Given the description of an element on the screen output the (x, y) to click on. 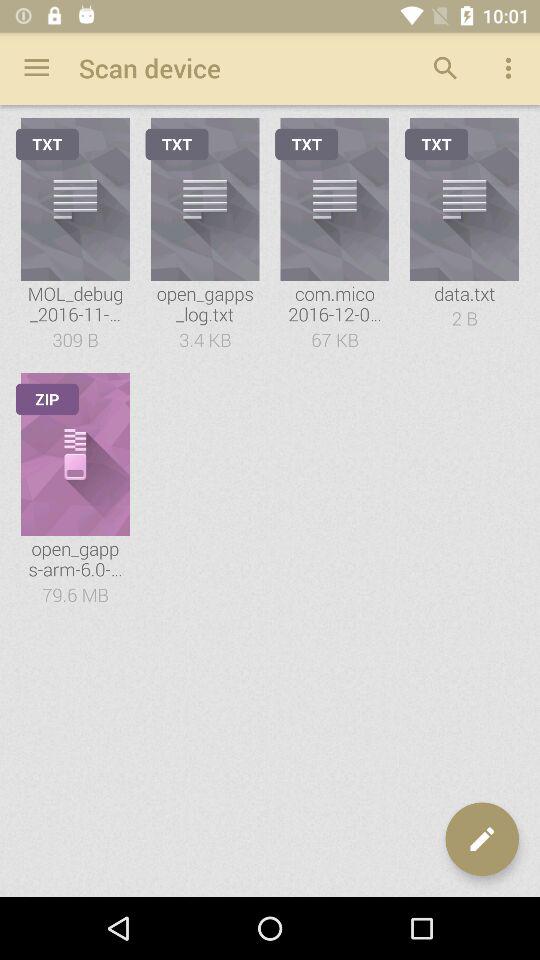
open app to the left of the scan device app (36, 68)
